Given the description of an element on the screen output the (x, y) to click on. 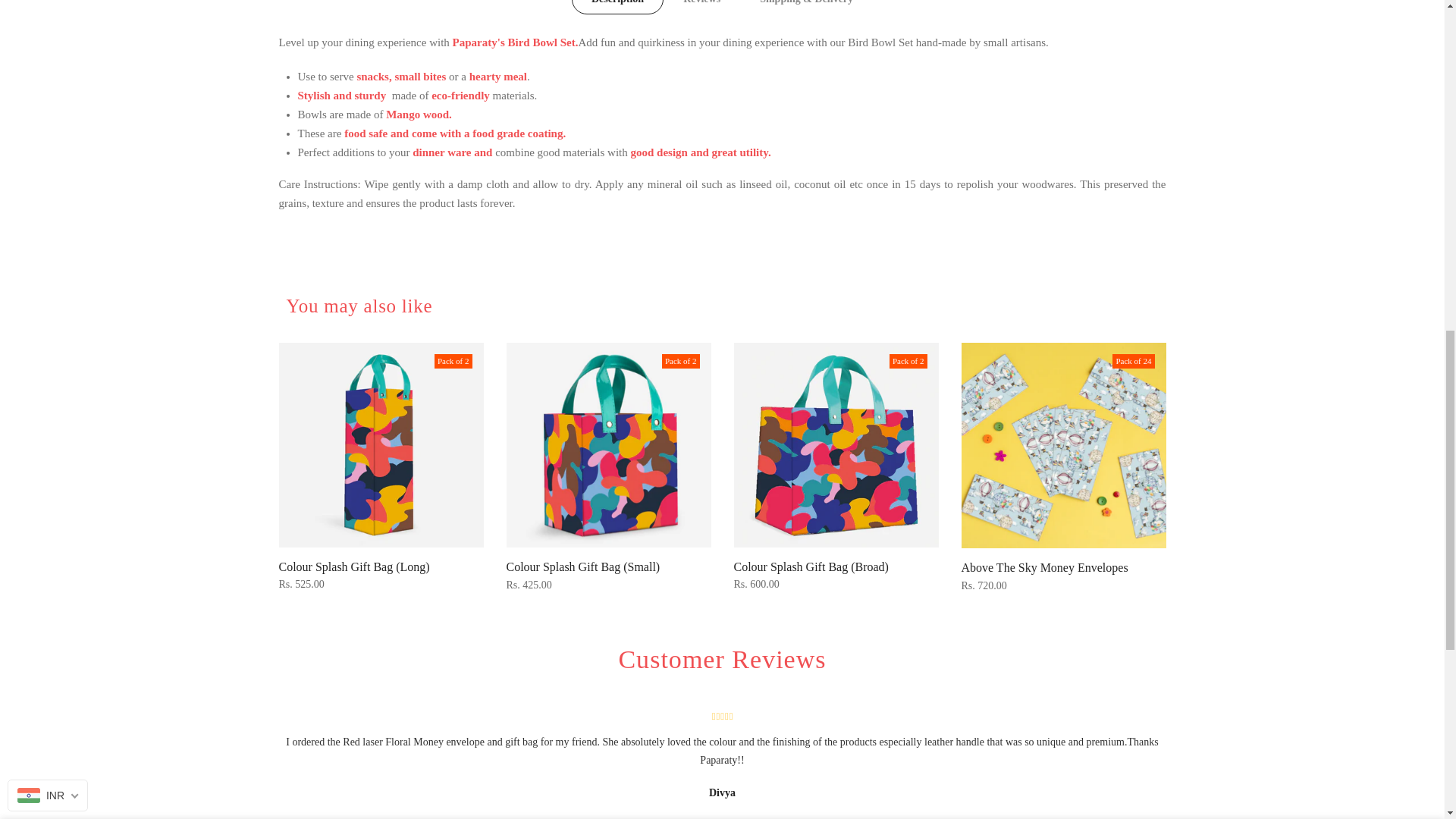
1 (1001, 35)
